Given the description of an element on the screen output the (x, y) to click on. 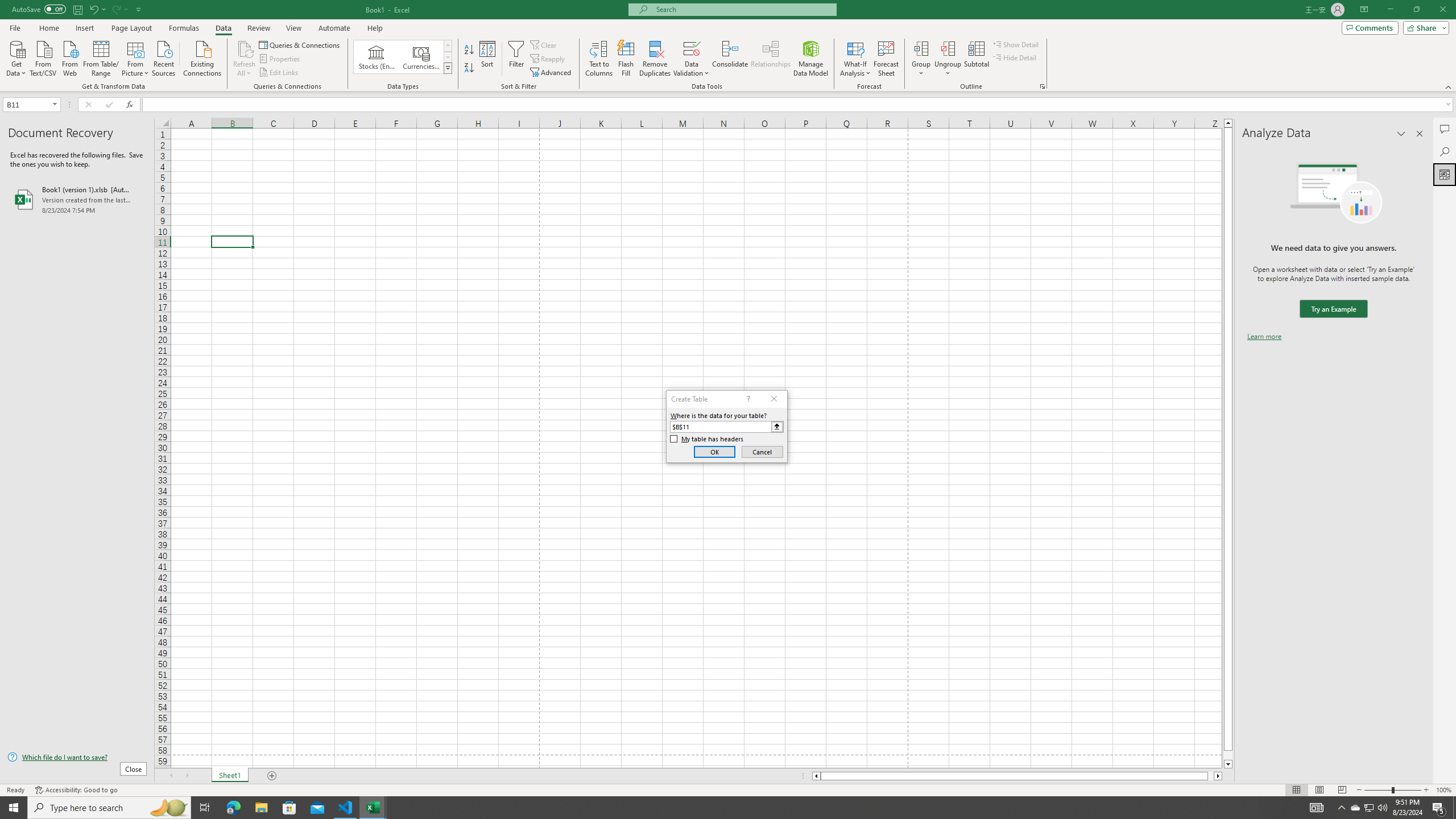
From Table/Range (100, 57)
Show Detail (1016, 44)
Properties (280, 58)
From Text/CSV (43, 57)
Recent Sources (163, 57)
Advanced... (551, 72)
